Given the description of an element on the screen output the (x, y) to click on. 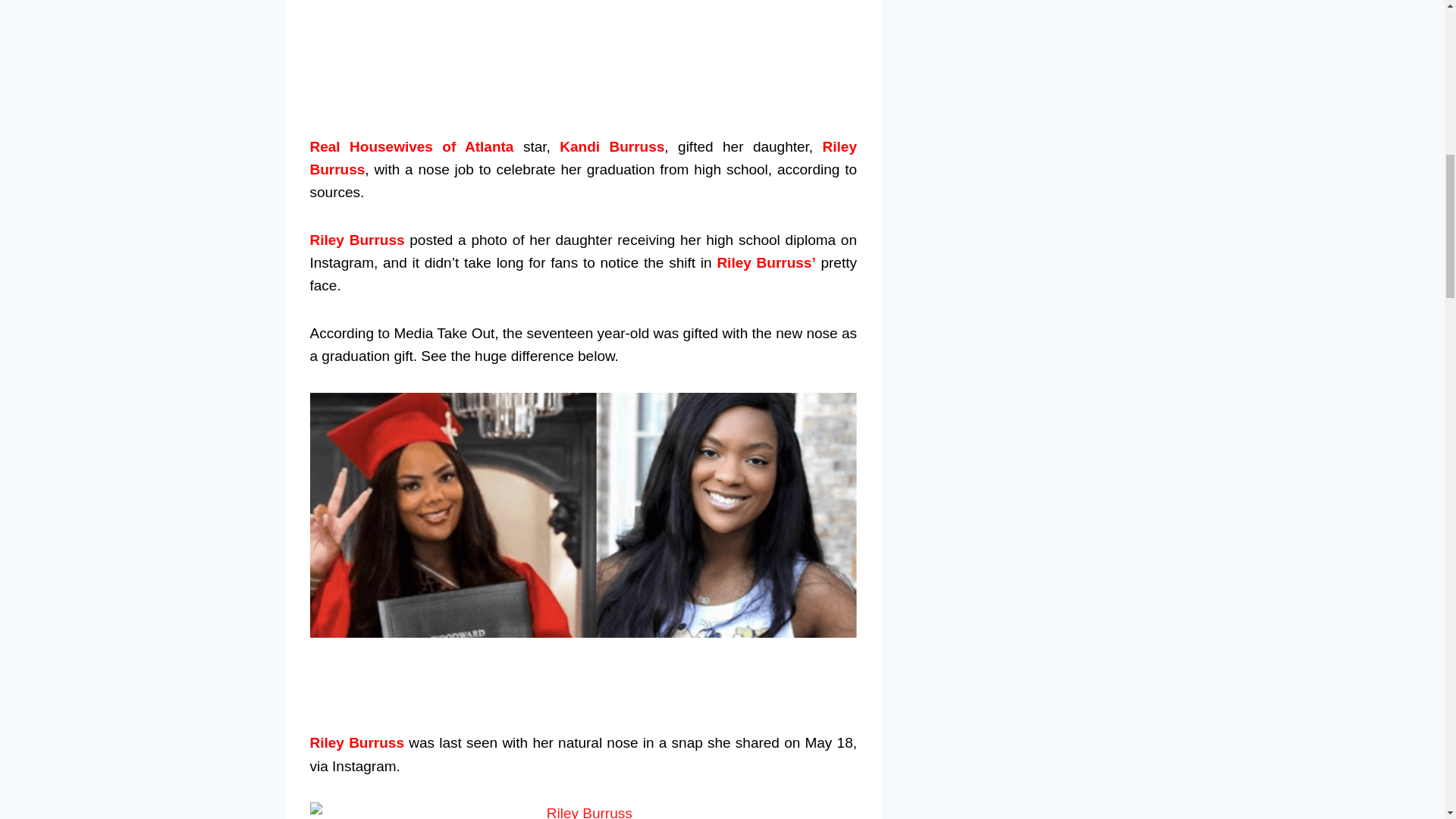
Kandi Burruss (611, 146)
Real Housewives of Atlanta (410, 146)
Riley Burruss (582, 157)
Riley Burruss (356, 239)
